Given the description of an element on the screen output the (x, y) to click on. 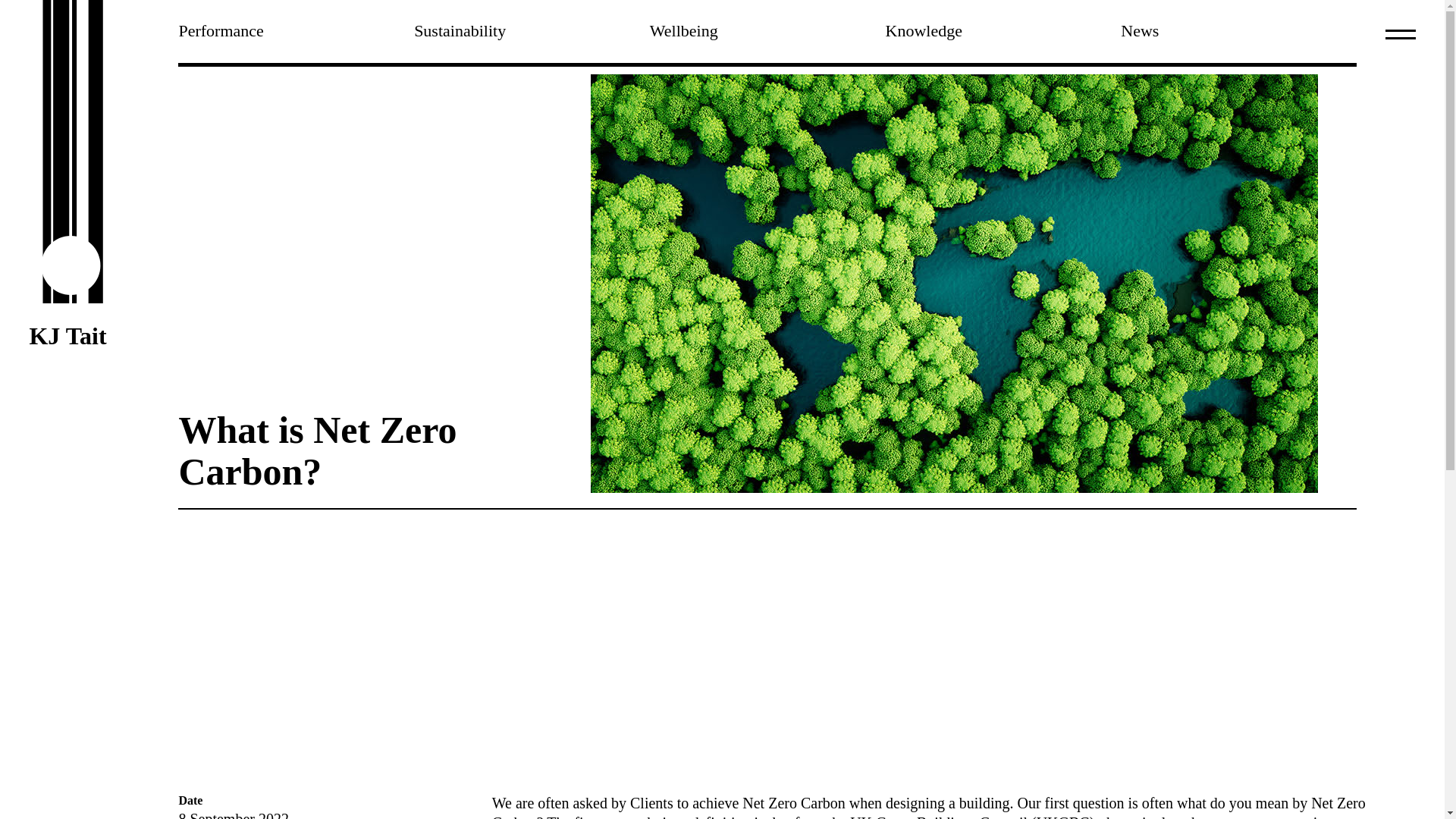
Wellbeing (767, 31)
Knowledge (1003, 31)
News (1238, 31)
Performance (295, 31)
Sustainability (531, 31)
